Given the description of an element on the screen output the (x, y) to click on. 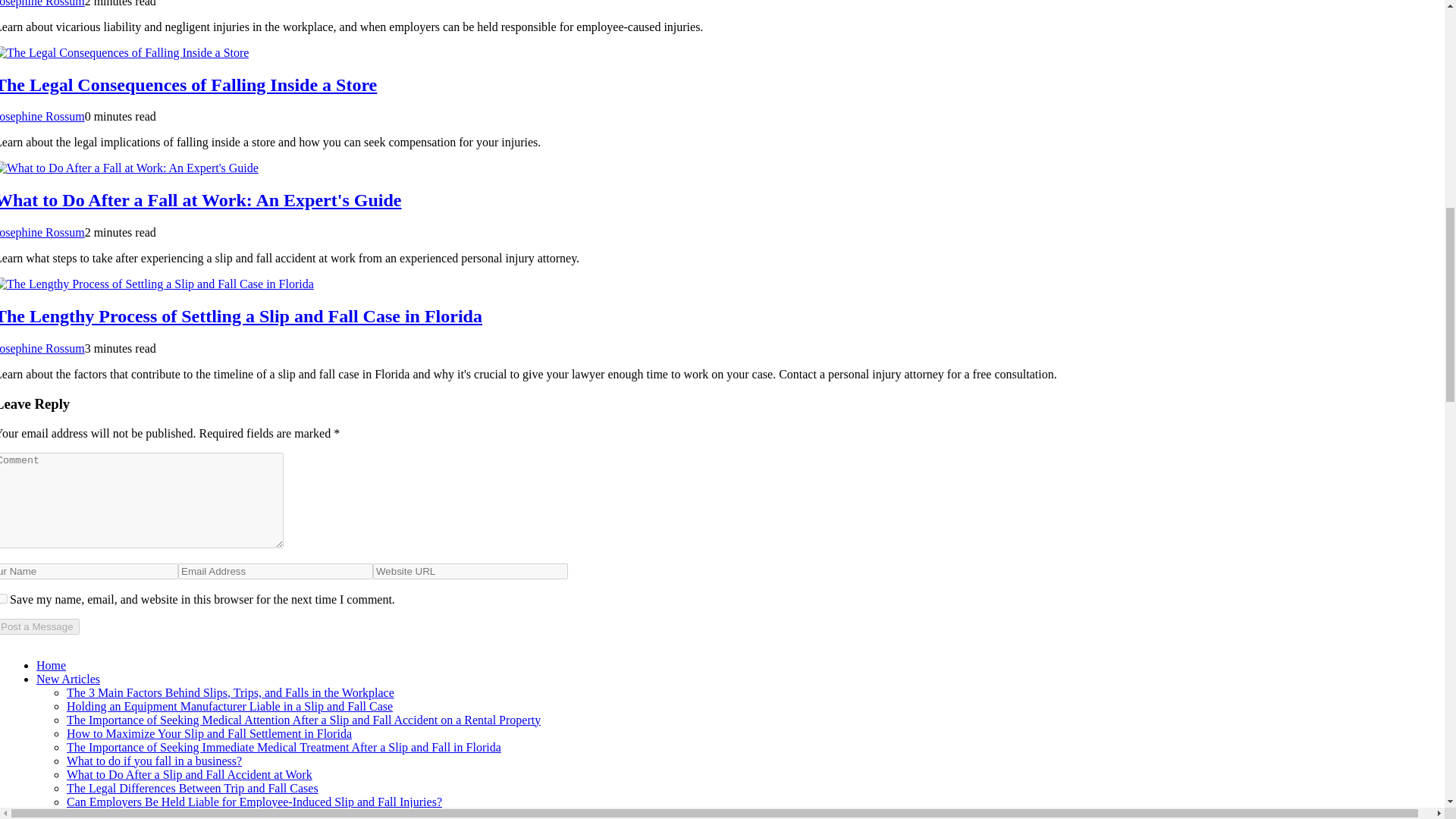
Posts by Josephine Rossum (42, 3)
Post a Message (40, 626)
Josephine Rossum (42, 3)
Home (50, 665)
Josephine Rossum (42, 232)
New Articles (68, 678)
Posts by Josephine Rossum (42, 115)
What to Do After a Fall at Work: An Expert's Guide (200, 199)
Posts by Josephine Rossum (42, 348)
What to do if you fall in a business? (153, 760)
